Given the description of an element on the screen output the (x, y) to click on. 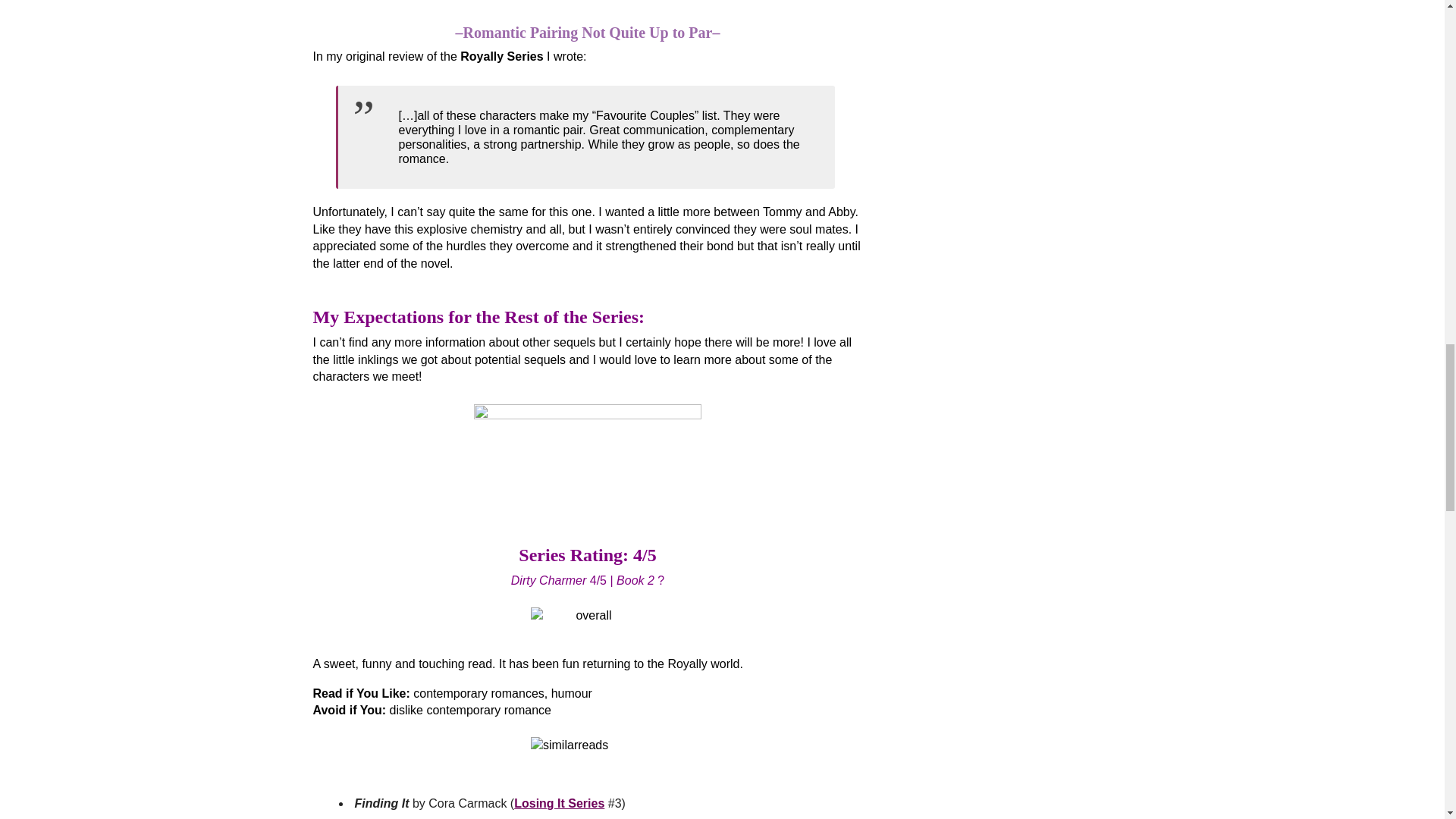
Losing It Series (558, 802)
Check out more worth a read series reviews! (587, 453)
